Given the description of an element on the screen output the (x, y) to click on. 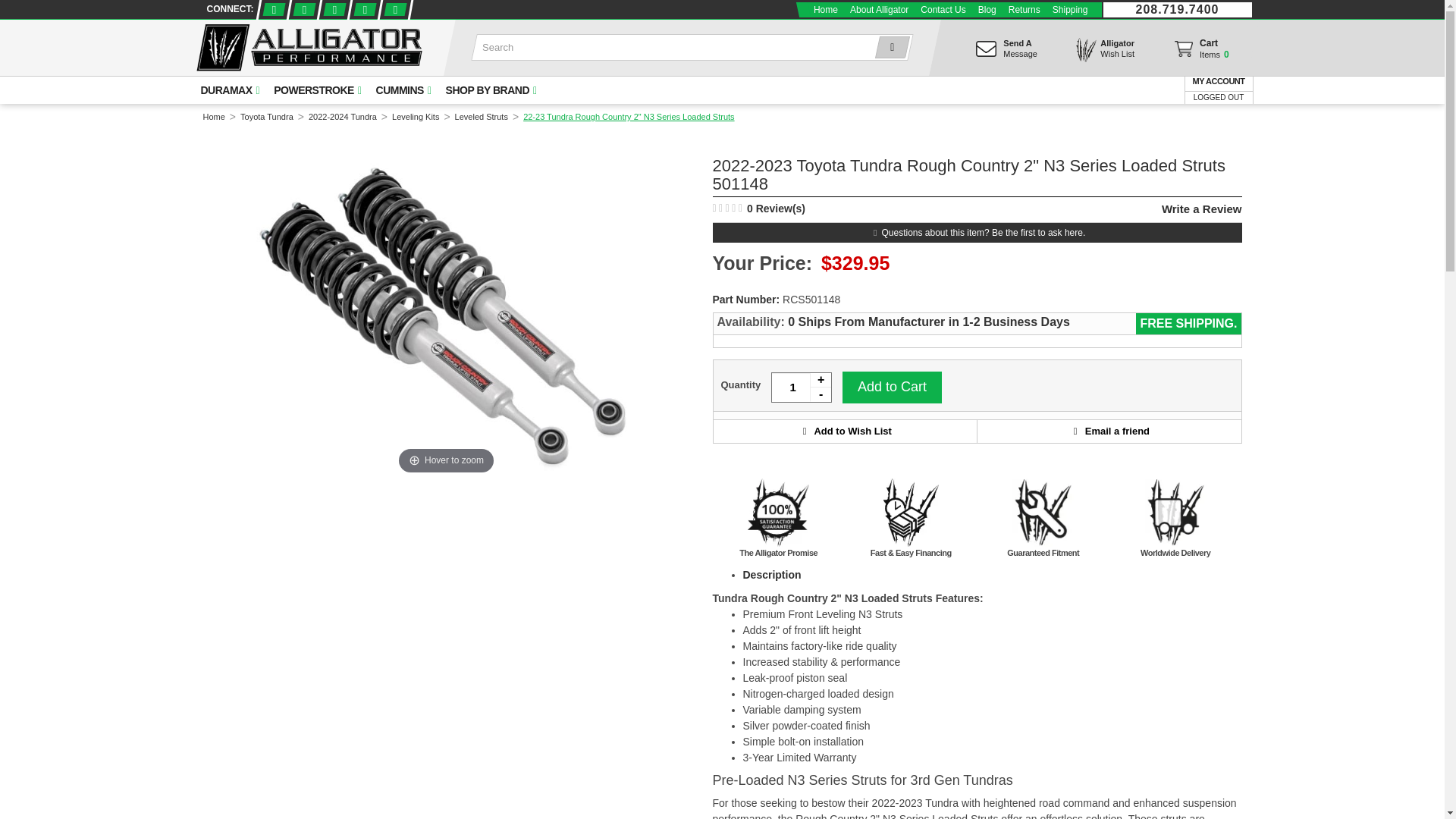
DURAMAX (227, 90)
Like Us on Facebook (272, 9)
Follow Us on Twitter (302, 9)
Home (826, 9)
Contact Us (942, 9)
Search (889, 47)
Follow Us on Instagram (394, 9)
Shipping (1070, 9)
About Alligator (879, 9)
Blog (987, 9)
Follow Us on Pinterest (363, 9)
Returns (1024, 9)
208.719.7400 (1177, 9)
Search (889, 47)
